Given the description of an element on the screen output the (x, y) to click on. 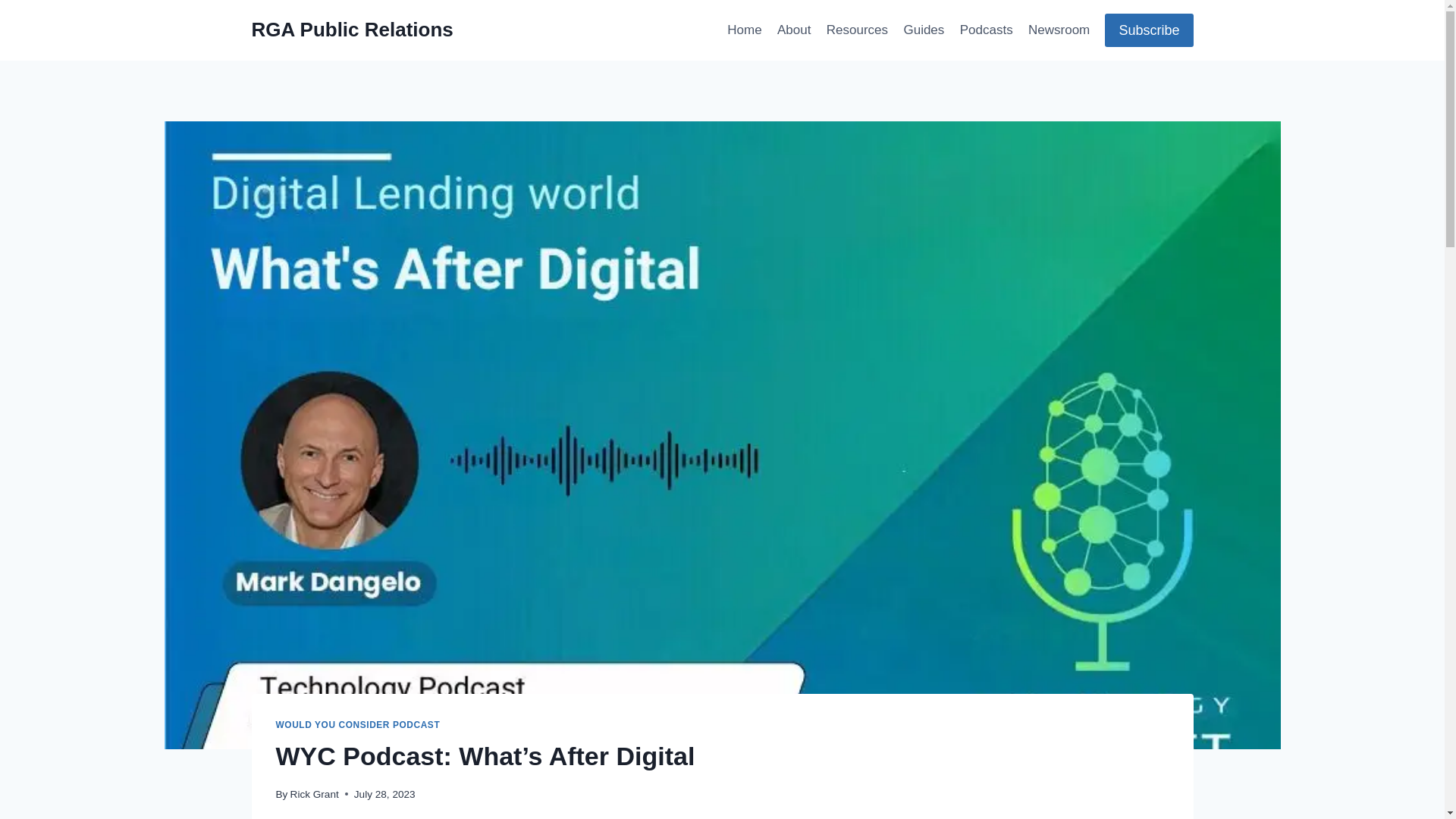
Podcasts (986, 30)
Home (744, 30)
RGA Public Relations (351, 29)
Newsroom (1058, 30)
Subscribe (1148, 29)
About (794, 30)
Guides (923, 30)
Rick Grant (314, 794)
Resources (857, 30)
WOULD YOU CONSIDER PODCAST (358, 724)
